Given the description of an element on the screen output the (x, y) to click on. 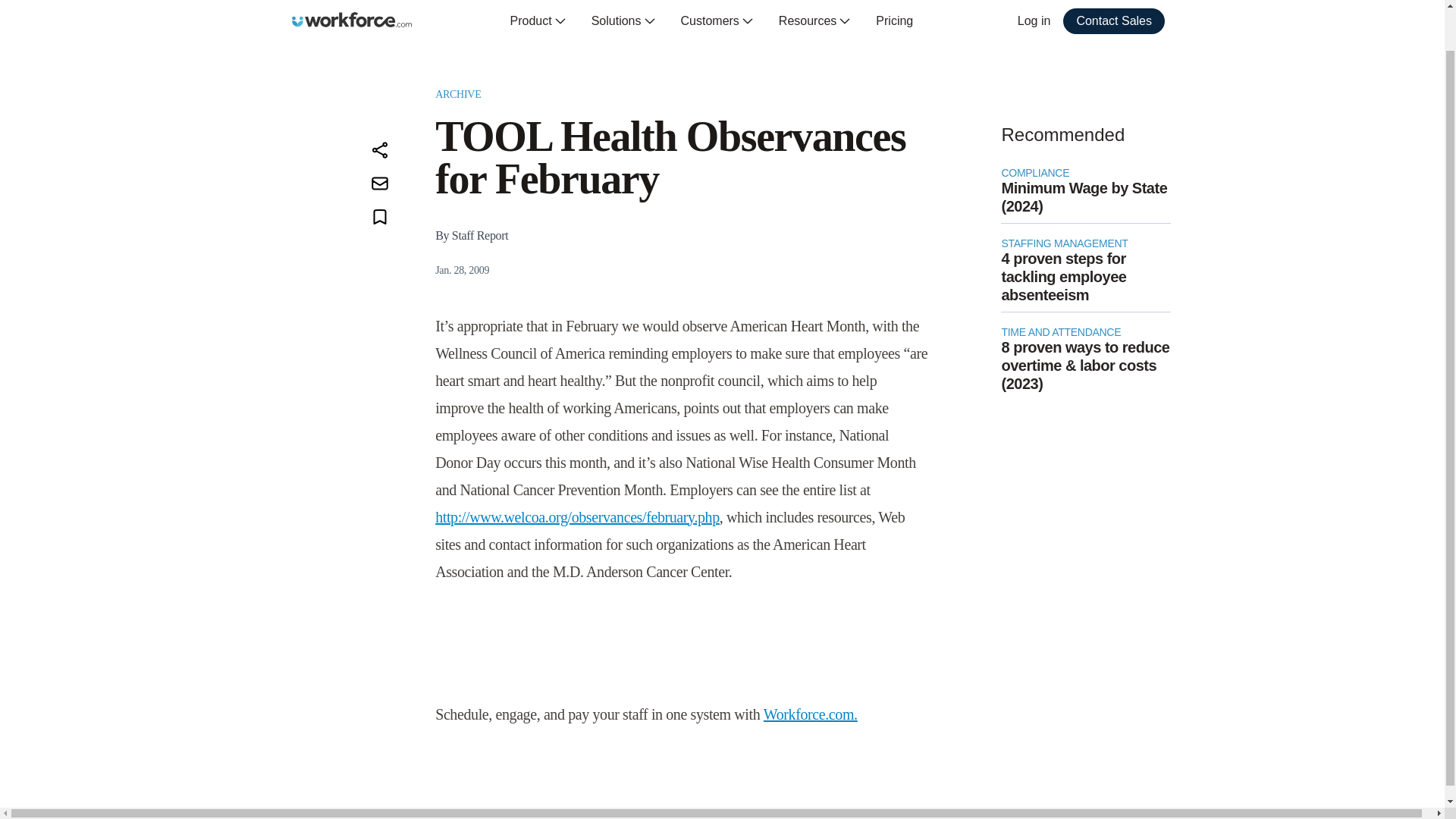
Solutions (623, 21)
Workforce.com (351, 19)
Product (539, 21)
